Given the description of an element on the screen output the (x, y) to click on. 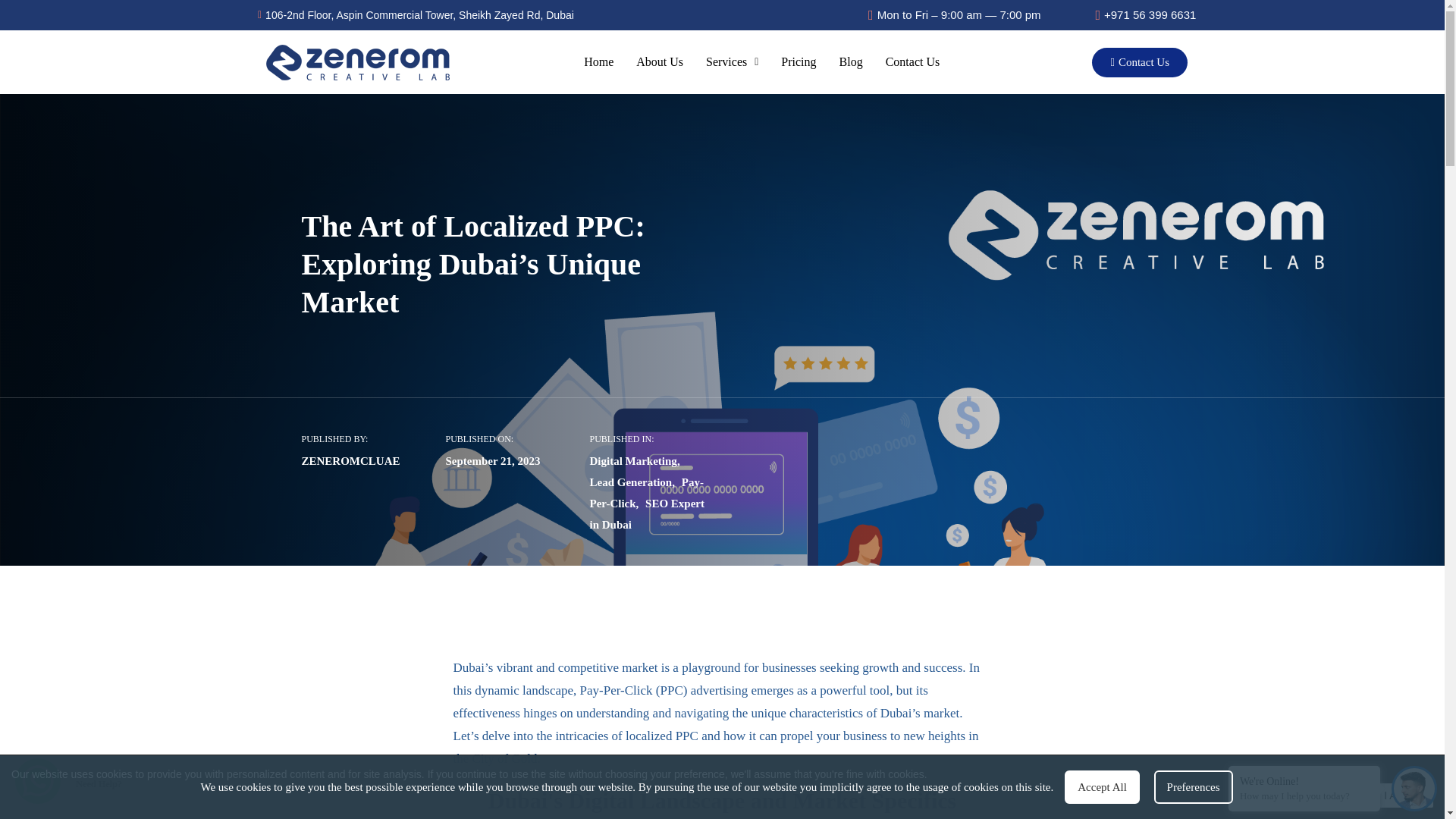
About Us (659, 62)
Home (598, 62)
Services (732, 62)
I Accept (1402, 794)
We're Online! (1304, 780)
How may I help you today? (1304, 796)
